Given the description of an element on the screen output the (x, y) to click on. 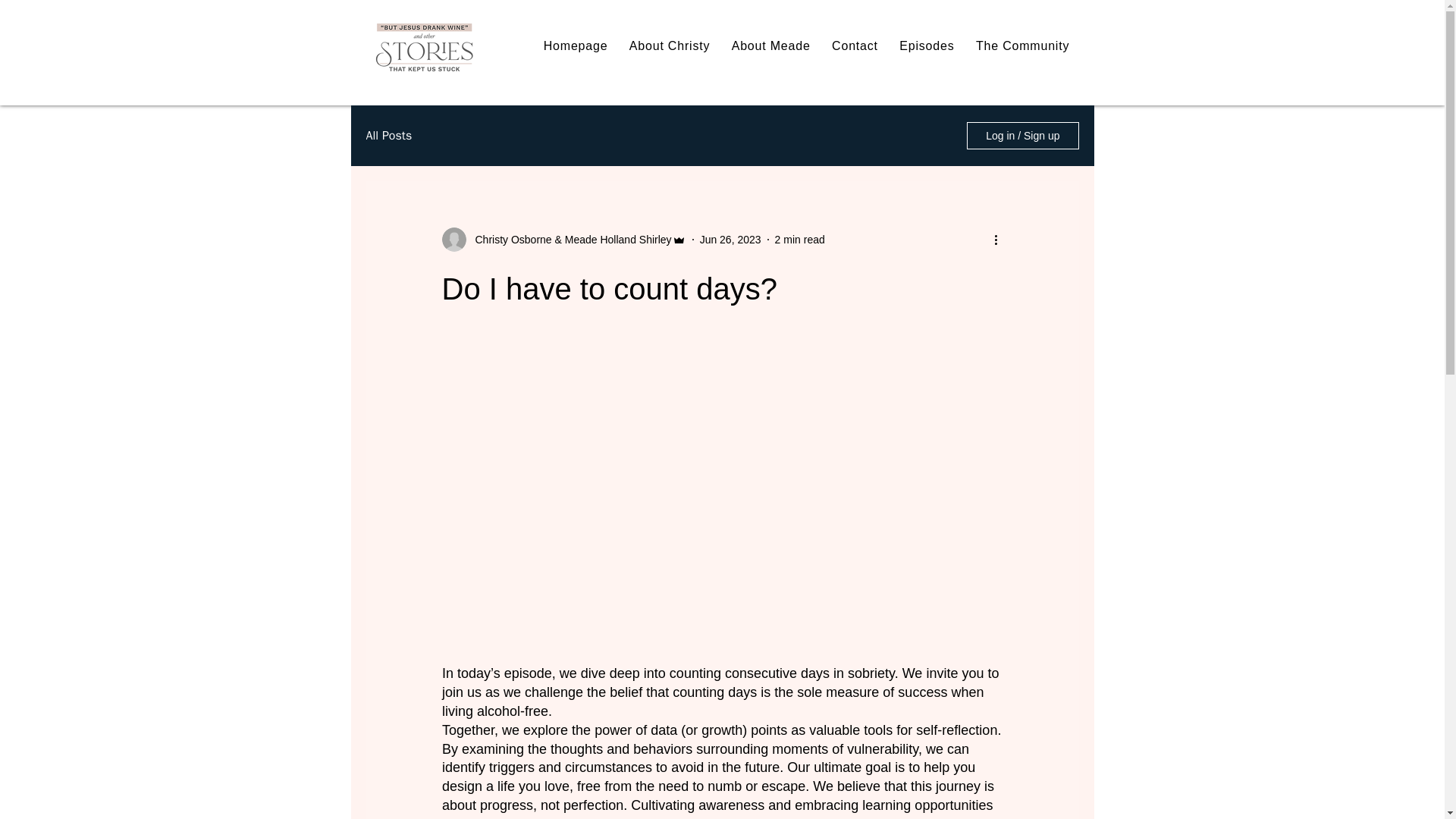
About Christy (669, 45)
Jun 26, 2023 (730, 239)
The Community (1022, 45)
All Posts (388, 135)
About Meade (769, 45)
Homepage (574, 45)
2 min read (799, 239)
Episodes (926, 45)
Contact (854, 45)
